Given the description of an element on the screen output the (x, y) to click on. 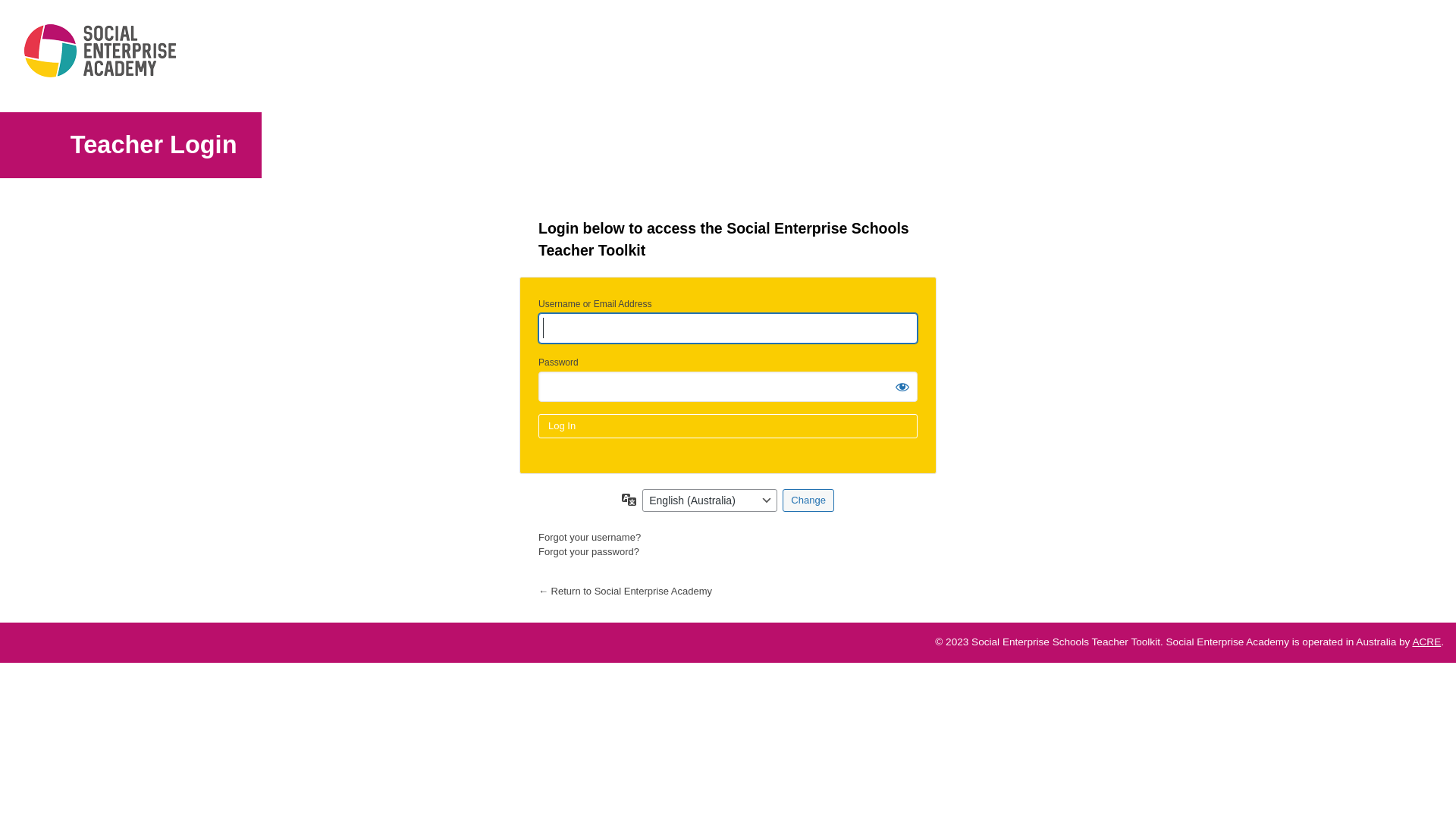
Social Enterprise Academy Element type: text (99, 55)
ACRE Element type: text (1426, 641)
Log In Element type: text (727, 426)
Forgot your username? Element type: text (589, 536)
Forgot your password? Element type: text (588, 551)
Change Element type: text (808, 500)
